Given the description of an element on the screen output the (x, y) to click on. 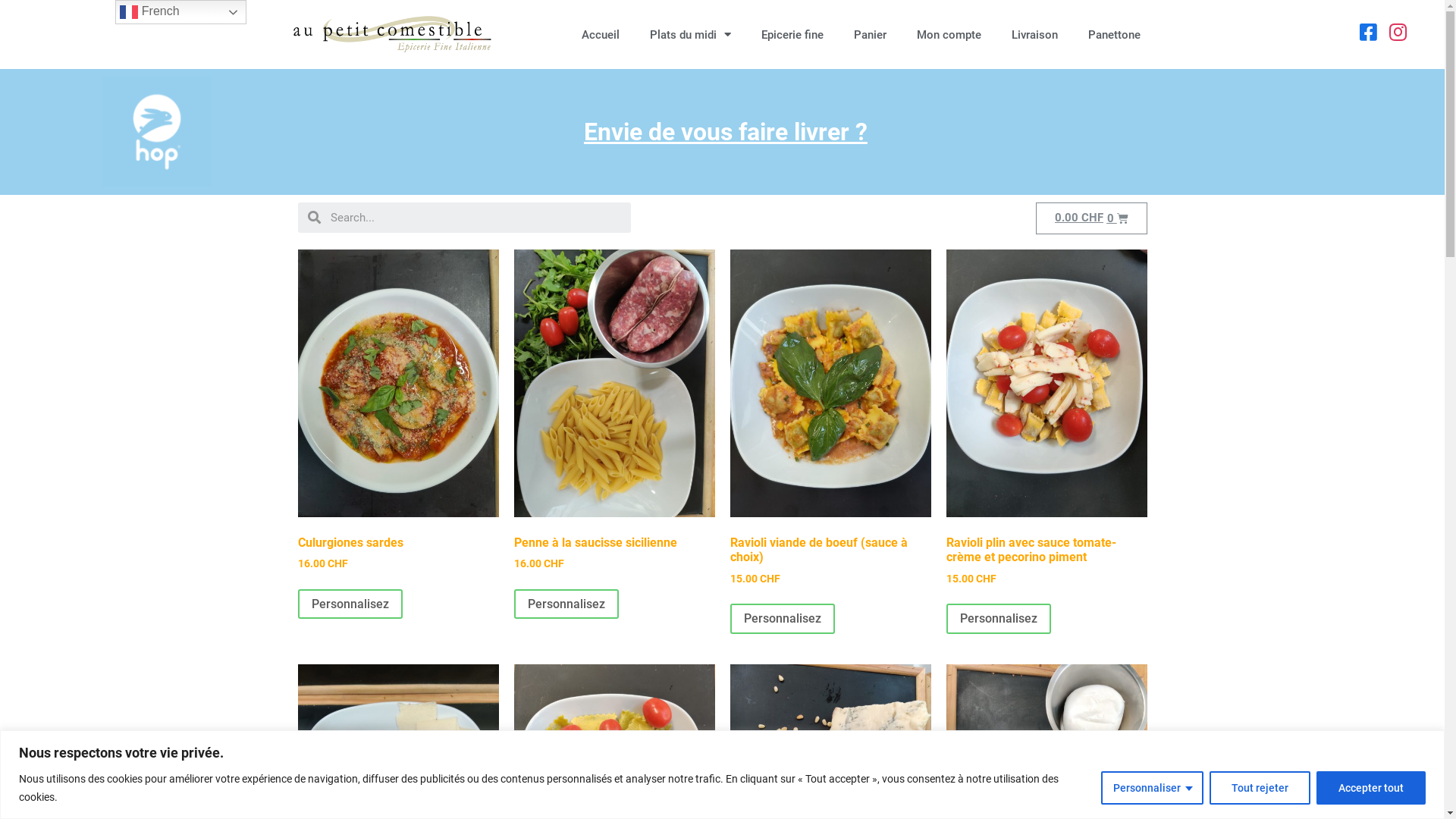
Personnalisez Element type: text (781, 618)
Tout rejeter Element type: text (1259, 786)
Panier Element type: text (869, 34)
Panettone Element type: text (1114, 34)
French Element type: text (180, 12)
Envie de vous faire livrer ? Element type: text (725, 131)
Epicerie fine Element type: text (792, 34)
Personnalisez Element type: text (566, 604)
0.00 CHF
0 Element type: text (1091, 218)
Mon compte Element type: text (948, 34)
Accepter tout Element type: text (1370, 786)
Personnalisez Element type: text (998, 618)
Personnaliser Element type: text (1152, 786)
Culurgiones sardes
16.00 CHF Element type: text (397, 410)
Accueil Element type: text (600, 34)
Plats du midi Element type: text (690, 34)
Livraison Element type: text (1034, 34)
Personnalisez Element type: text (349, 604)
cropped-new_Logo_site_Aupetitcomestible.png Element type: hover (392, 34)
